Given the description of an element on the screen output the (x, y) to click on. 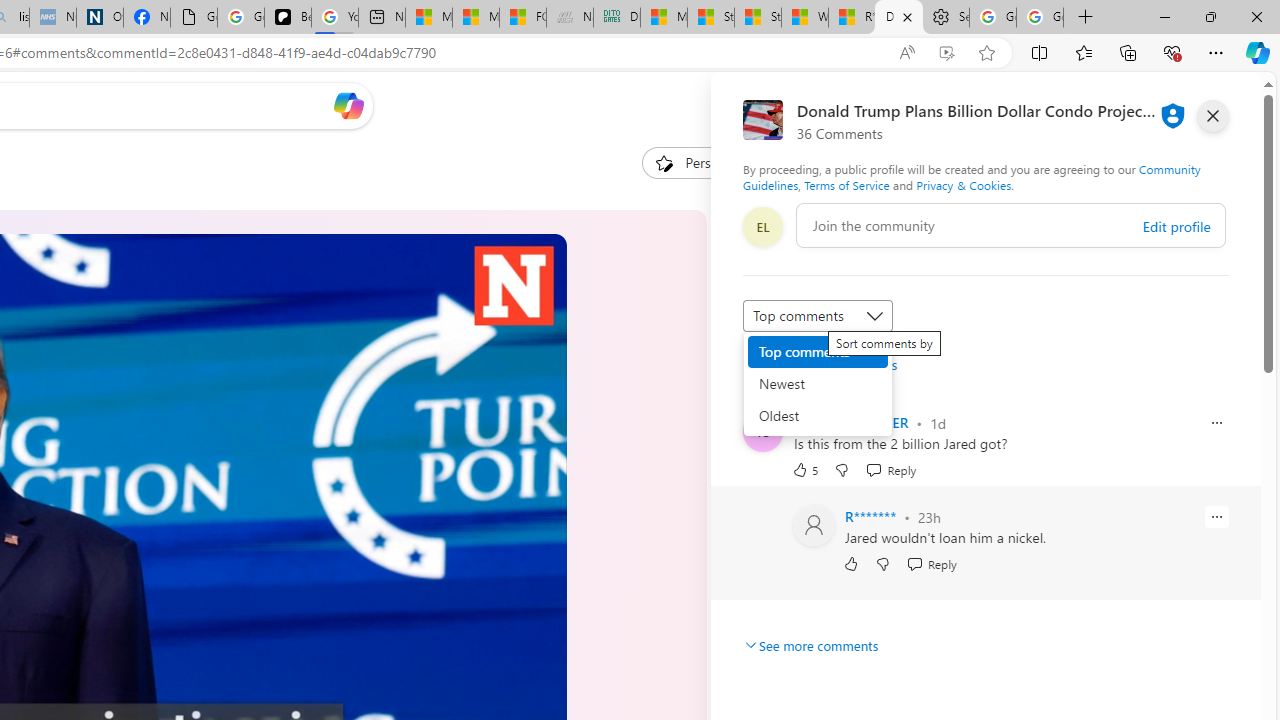
FOX News - MSN (523, 17)
Microsoft rewards (1137, 105)
Newest (817, 383)
Top comments (817, 351)
Tom SCHLENSKER (850, 422)
Be Smart | creating Science videos | Patreon (288, 17)
comment-box (1011, 225)
